Given the description of an element on the screen output the (x, y) to click on. 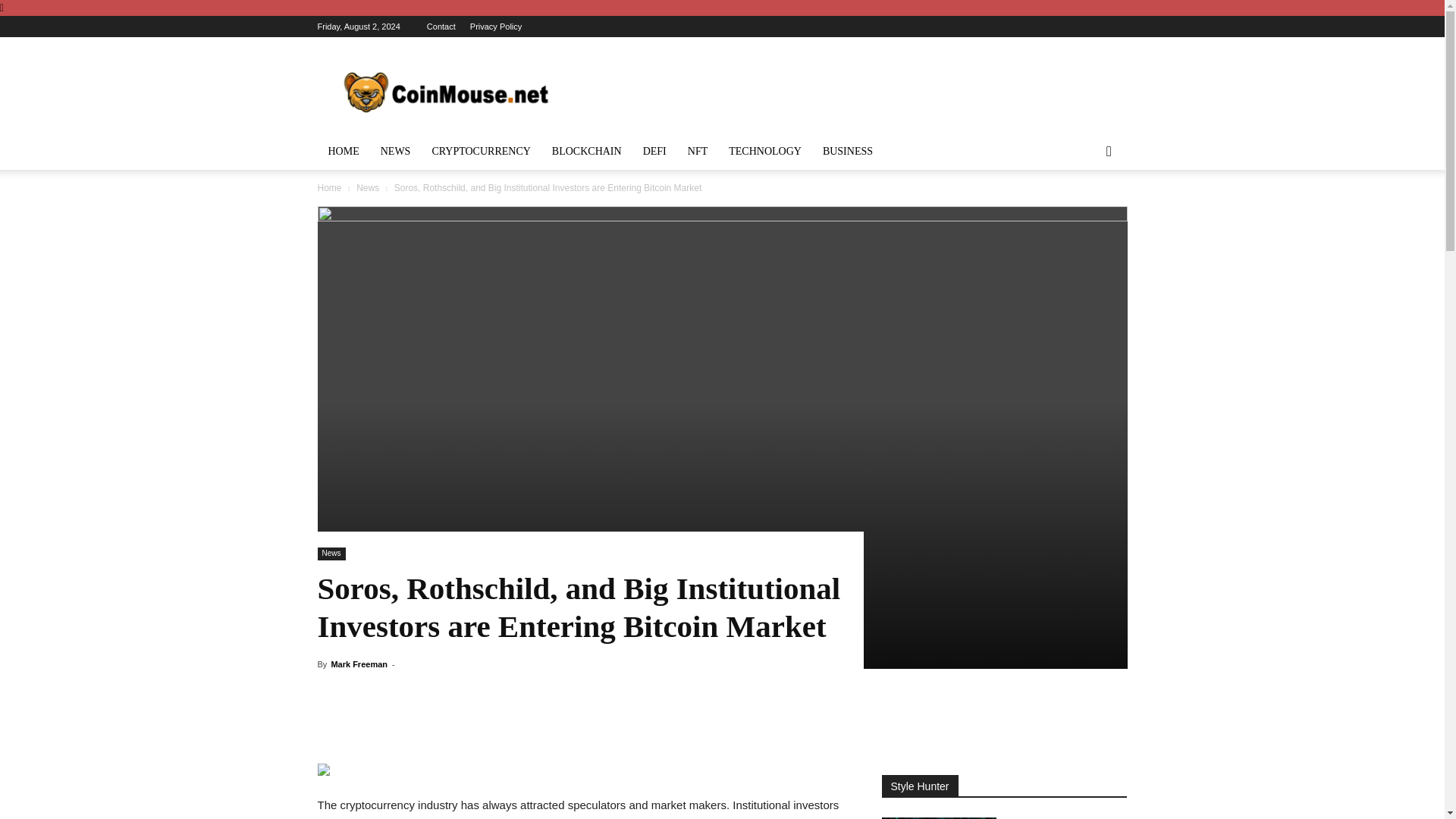
NEWS (395, 151)
Privacy Policy (495, 26)
HOME (343, 151)
Contact (440, 26)
